Given the description of an element on the screen output the (x, y) to click on. 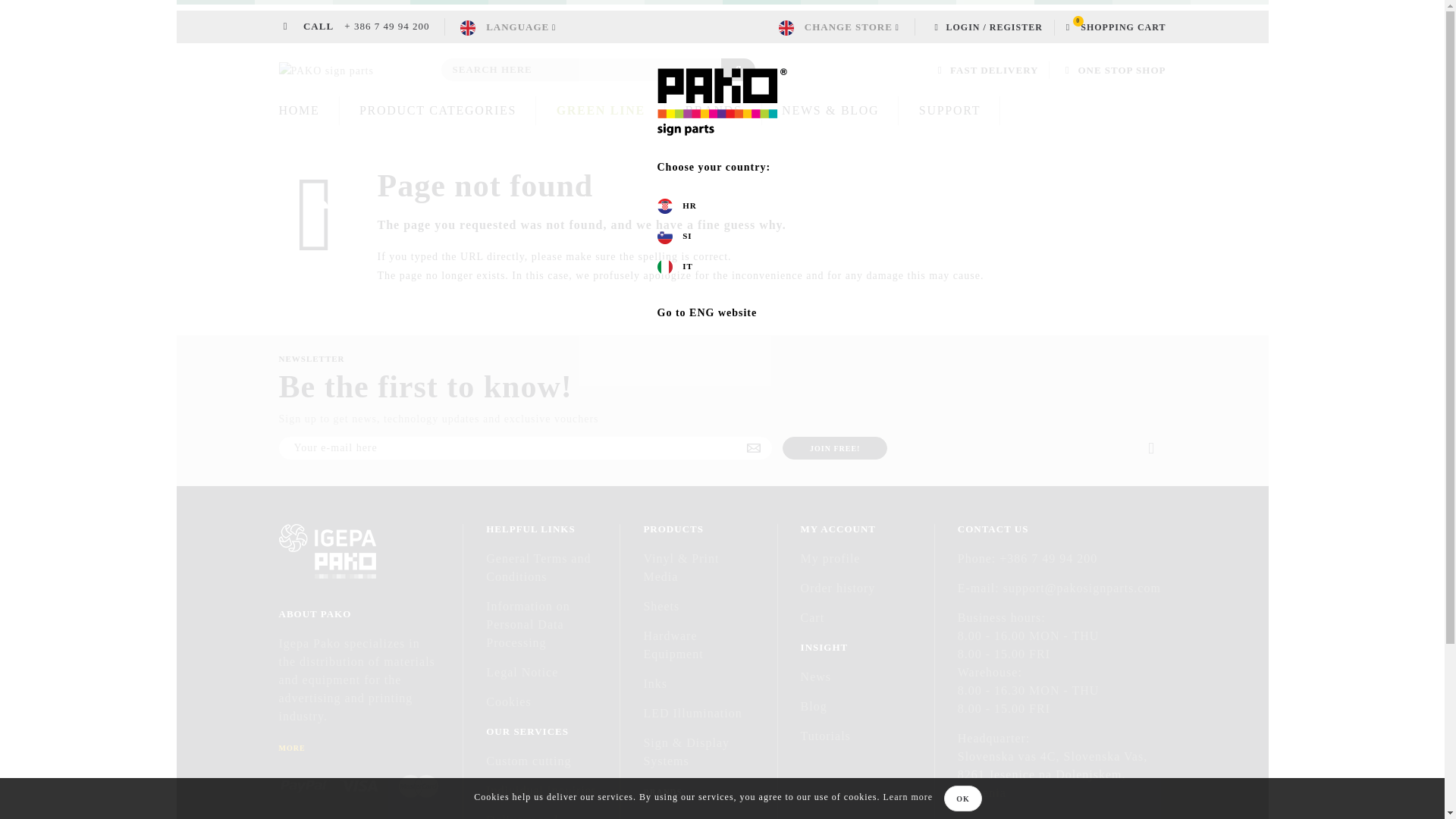
Join free! (834, 447)
En (508, 27)
CHANGE STORE (838, 27)
LANGUAGE (508, 27)
En (785, 28)
HOME (299, 110)
Search (737, 69)
En (468, 28)
